Given the description of an element on the screen output the (x, y) to click on. 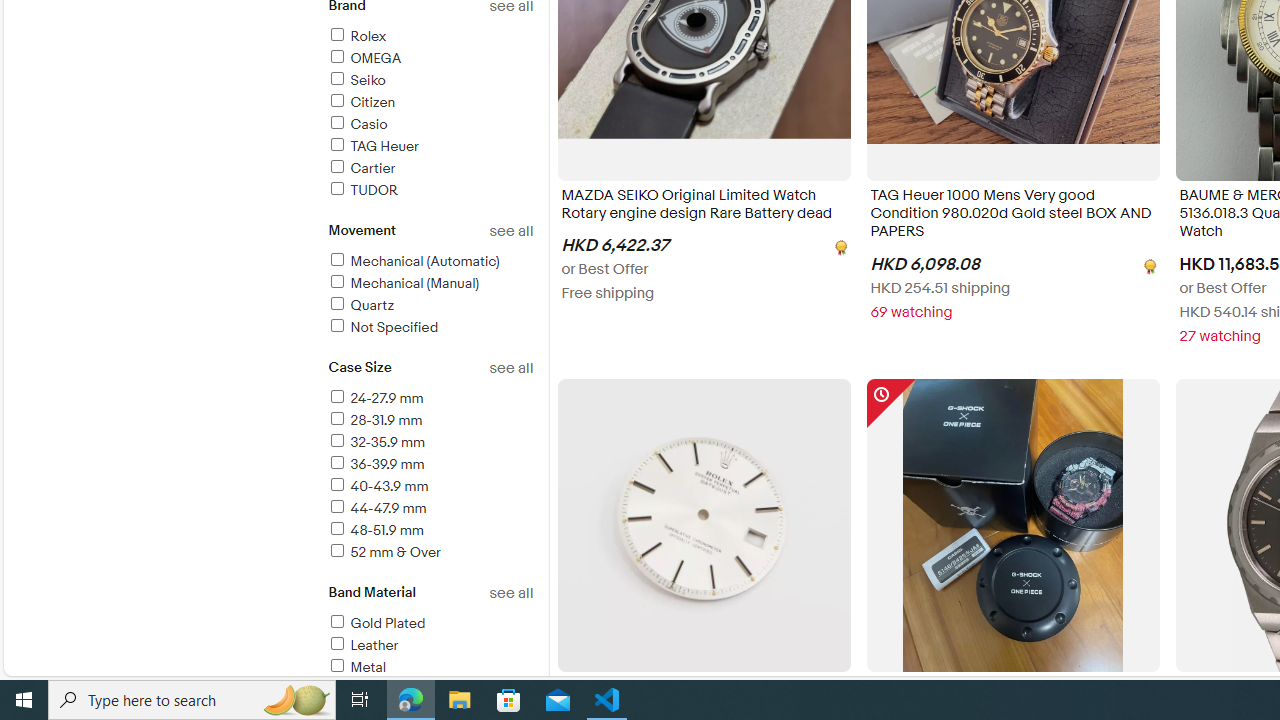
40-43.9 mm (430, 487)
Not Specified (382, 327)
TAG Heuer (372, 146)
Rolex (430, 37)
Seiko (356, 80)
28-31.9 mm (430, 421)
Citizen (430, 103)
TAG Heuer (430, 147)
Metal (430, 668)
28-31.9 mm (374, 420)
OMEGA (430, 59)
40-43.9 mm (377, 486)
See all case size refinements (510, 368)
[object Undefined] (1147, 264)
48-51.9 mm (374, 530)
